Given the description of an element on the screen output the (x, y) to click on. 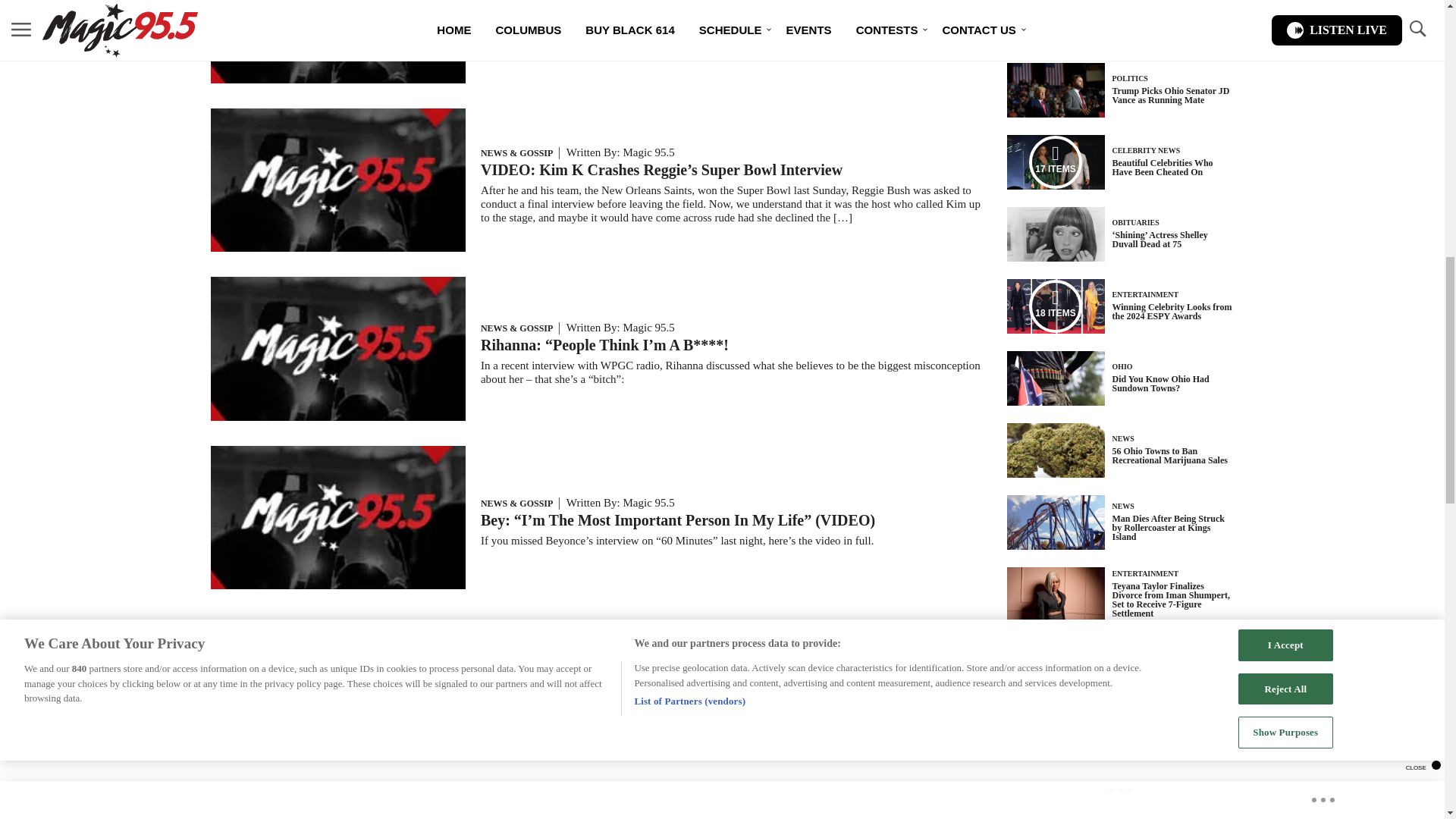
Media Playlist (1055, 306)
Magic 95.5 (648, 327)
Media Playlist (1055, 162)
Magic 95.5 (648, 152)
